Given the description of an element on the screen output the (x, y) to click on. 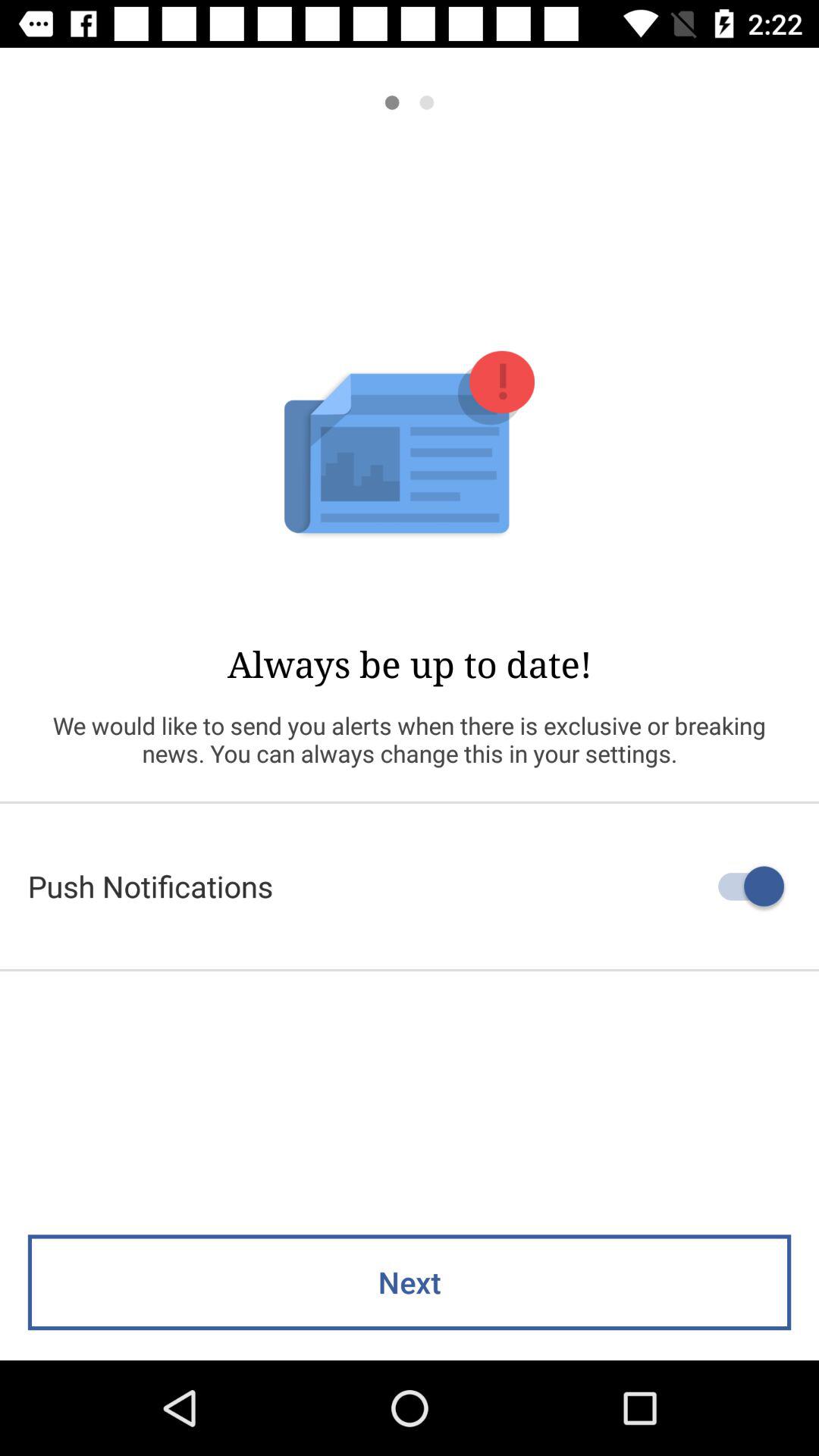
tap the push notifications icon (409, 886)
